Given the description of an element on the screen output the (x, y) to click on. 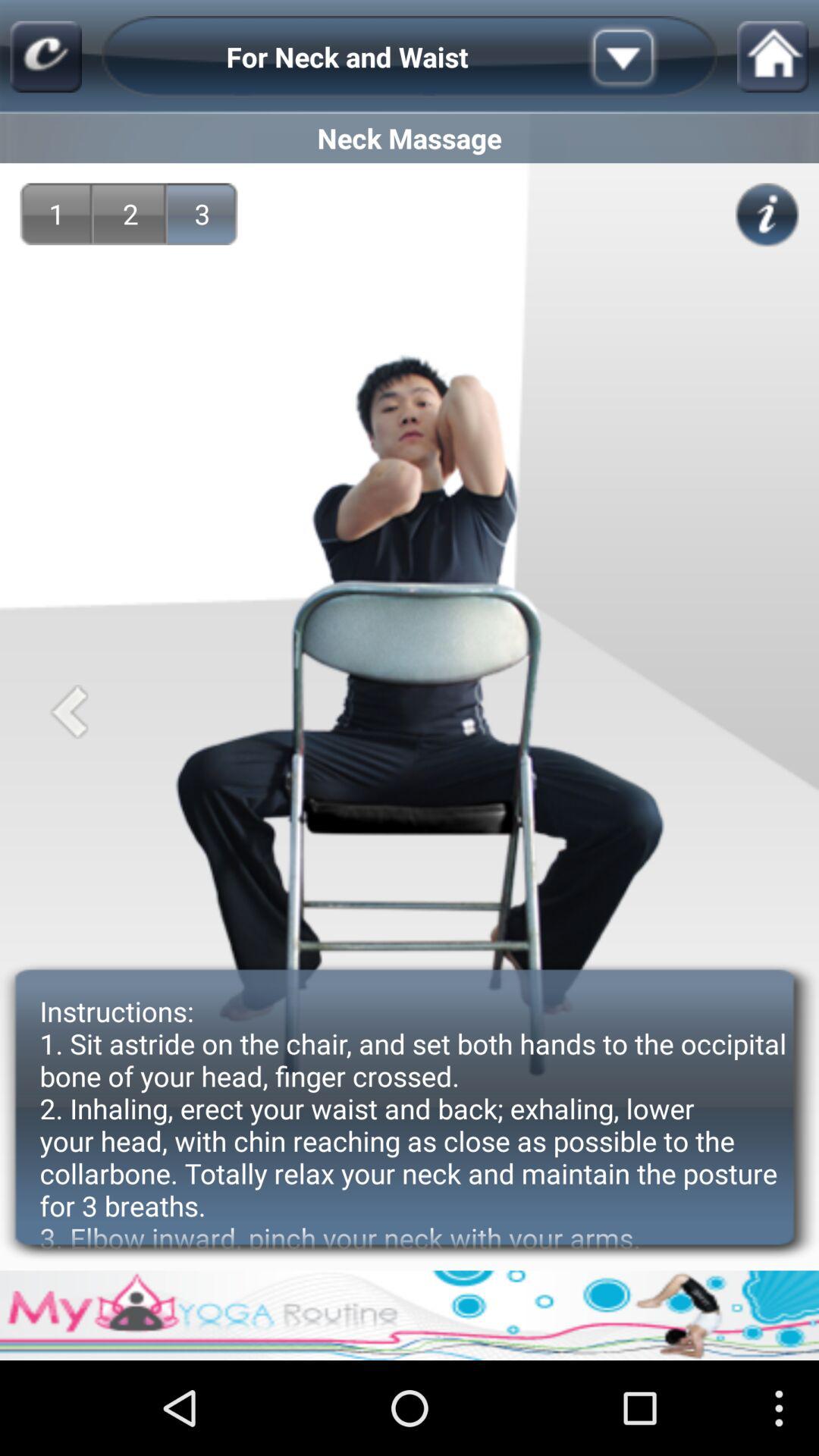
click item above the instructions 1 sit (767, 214)
